Given the description of an element on the screen output the (x, y) to click on. 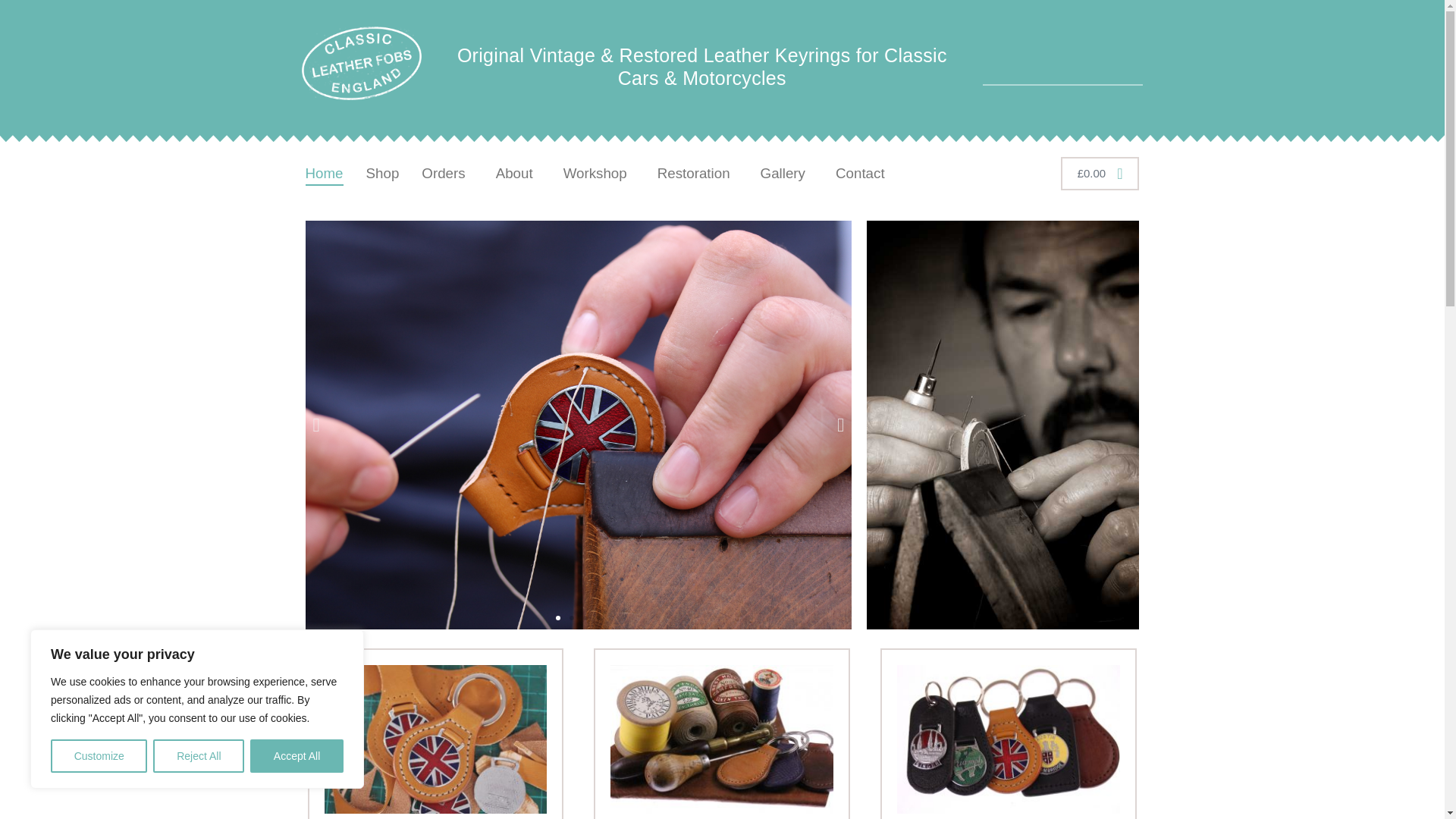
Shop (382, 173)
Accept All (296, 756)
Orders (446, 173)
About (518, 173)
home-flag (435, 739)
Workshop (598, 173)
Reject All (198, 756)
Home (323, 173)
Customize (98, 756)
Restoration (698, 173)
Gallery (786, 173)
